Given the description of an element on the screen output the (x, y) to click on. 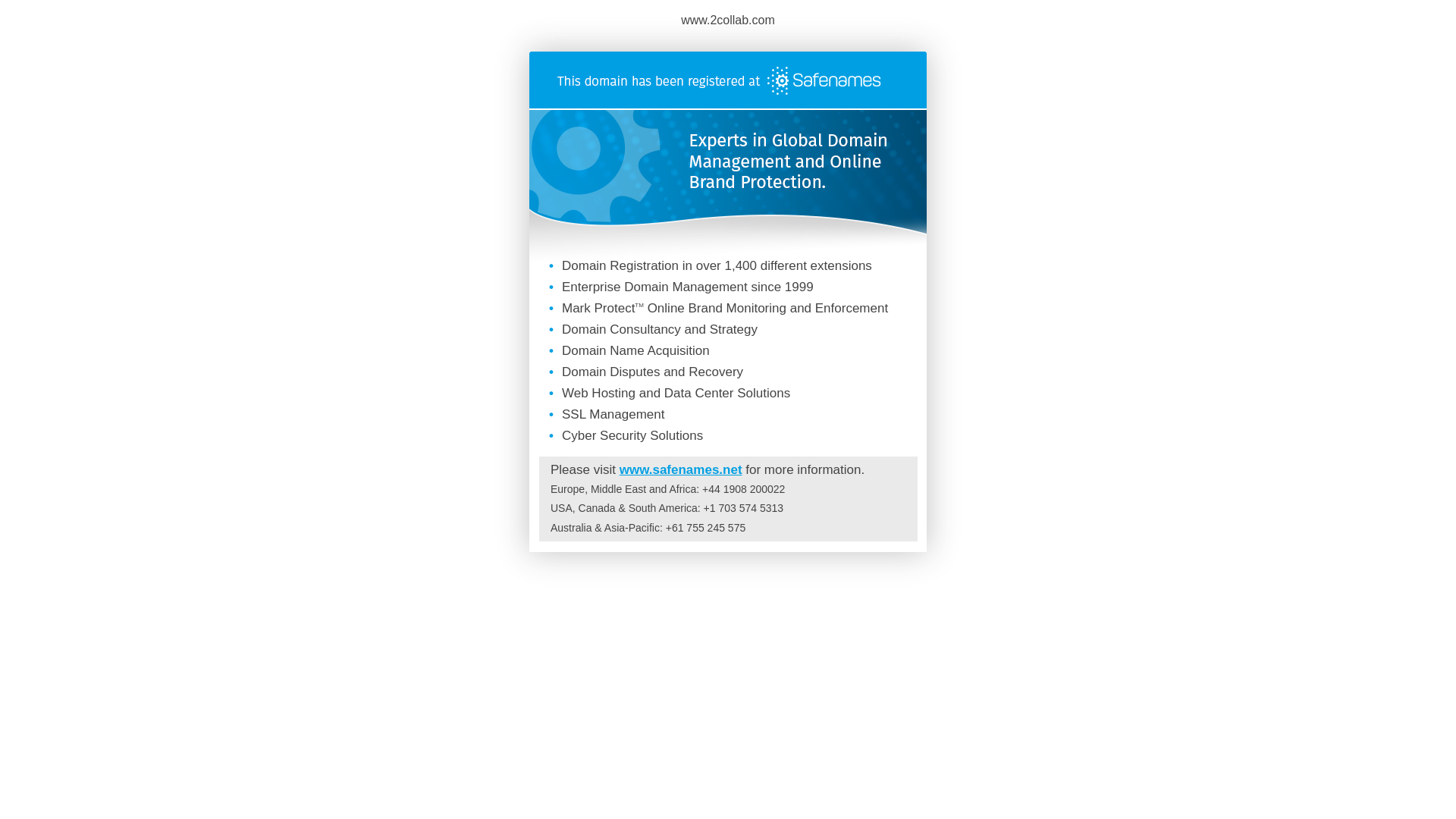
www.safenames.net Element type: text (680, 469)
